Given the description of an element on the screen output the (x, y) to click on. 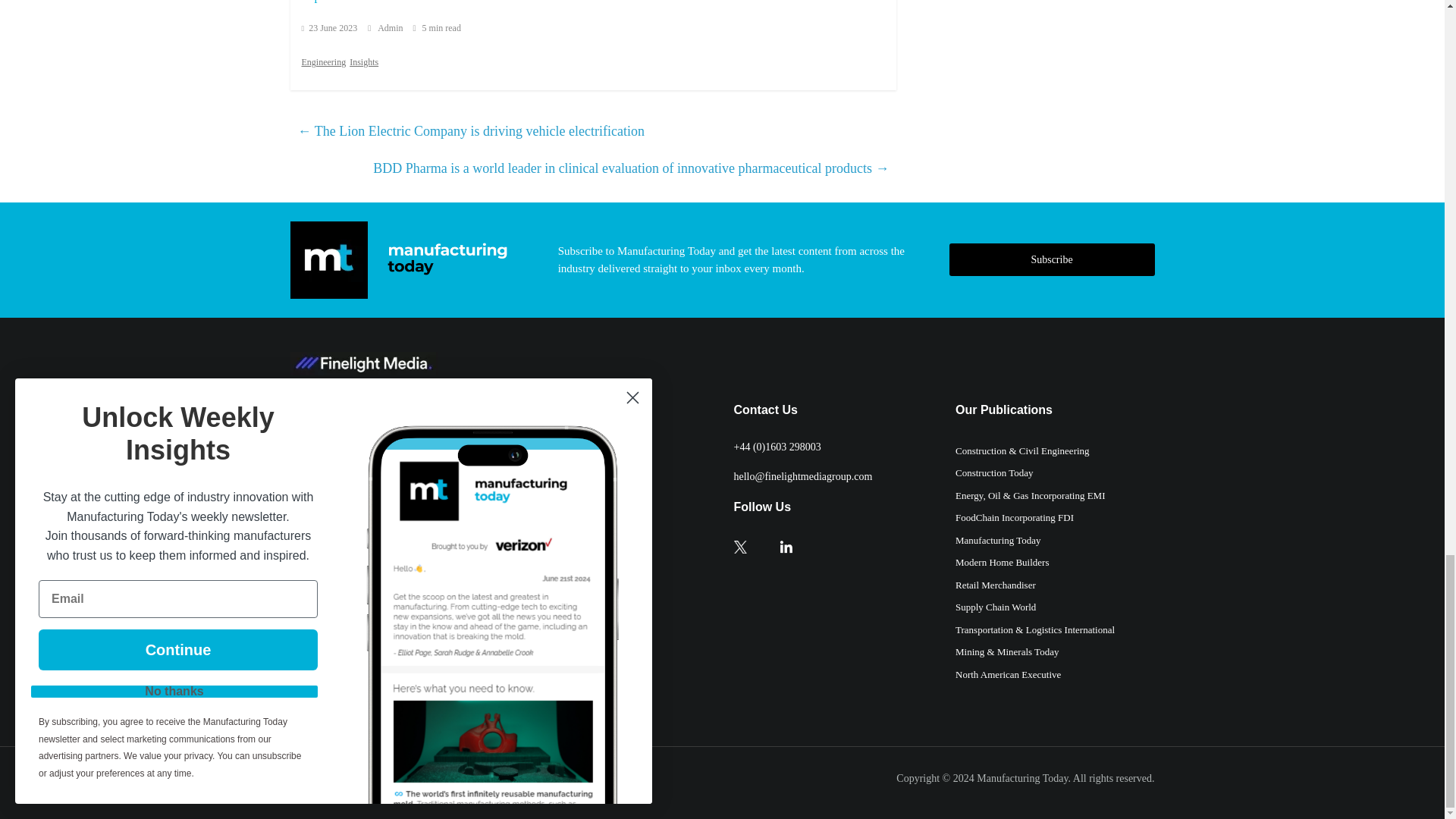
Engineering (323, 61)
Manufacturing Today (1021, 778)
Insights (363, 61)
Admin (390, 27)
Admin (390, 27)
23 June 2023 (329, 27)
1:34 pm (329, 27)
